Given the description of an element on the screen output the (x, y) to click on. 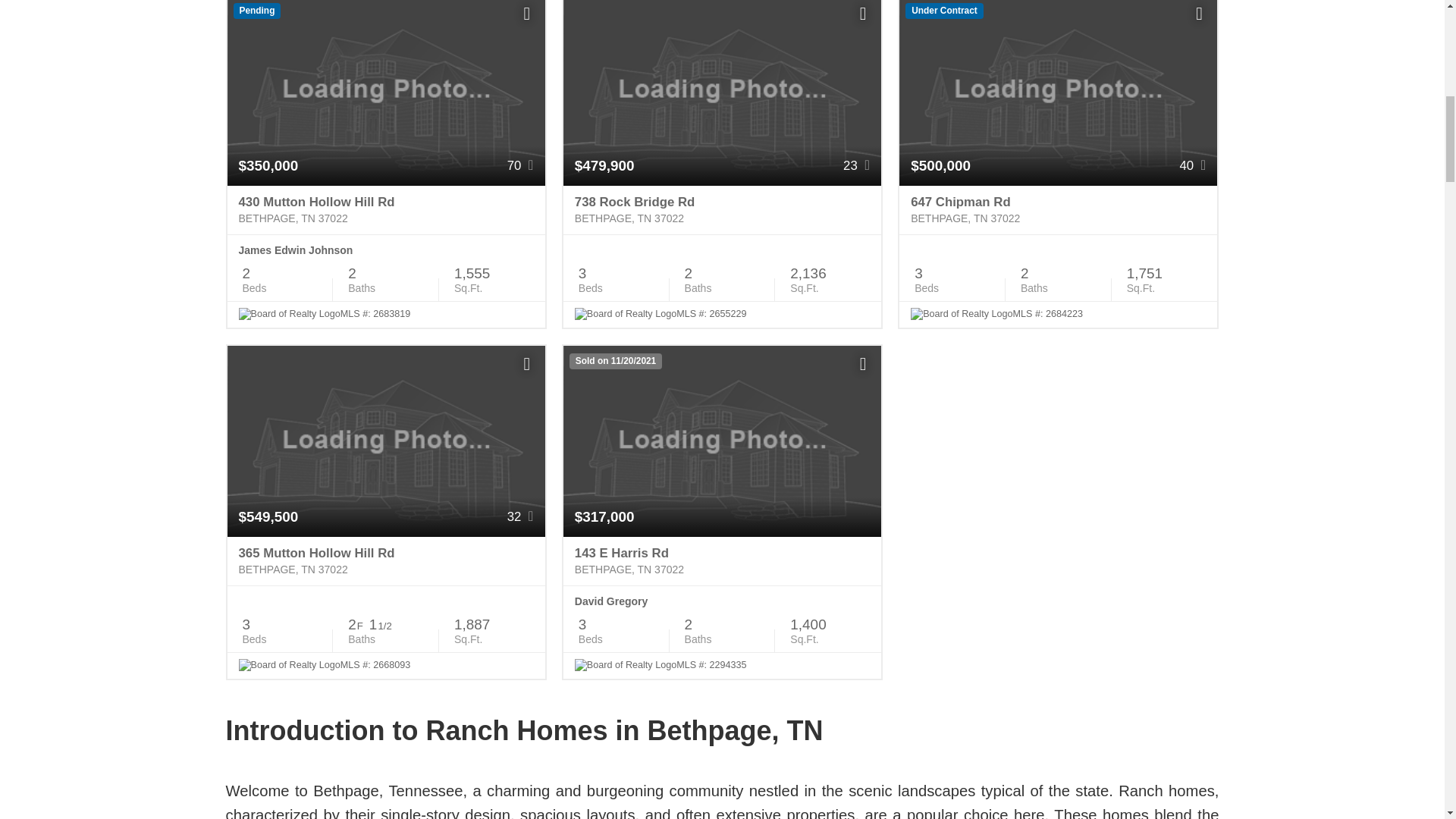
430 Mutton Hollow Hill Rd Bethpage,  TN 37022 (385, 210)
365 Mutton Hollow Hill Rd Bethpage,  TN 37022 (385, 561)
738 Rock Bridge Rd Bethpage,  TN 37022 (721, 210)
647 Chipman Rd Bethpage,  TN 37022 (1058, 210)
